Given the description of an element on the screen output the (x, y) to click on. 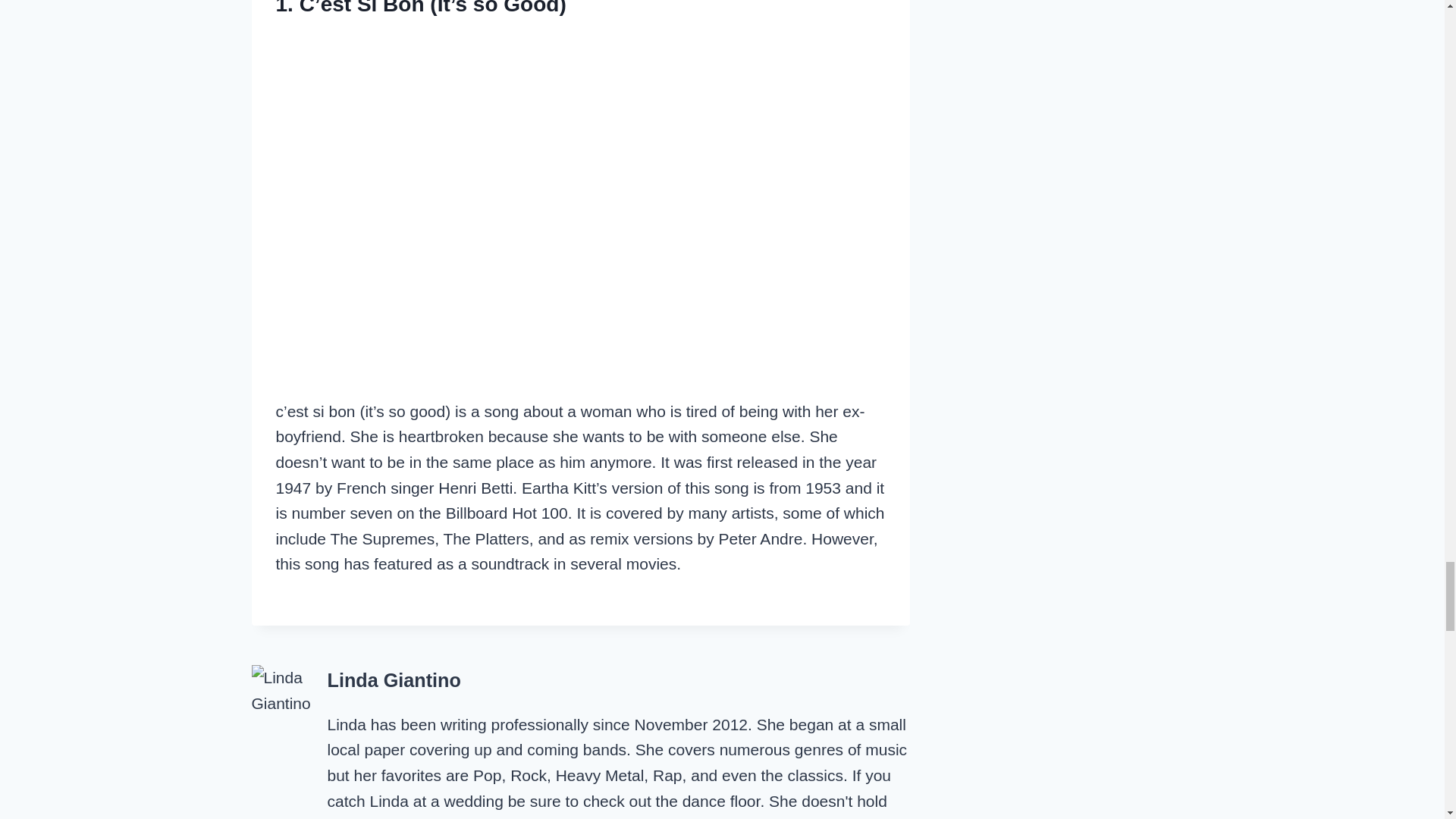
Posts by Linda Giantino (394, 680)
Linda Giantino (394, 680)
